Given the description of an element on the screen output the (x, y) to click on. 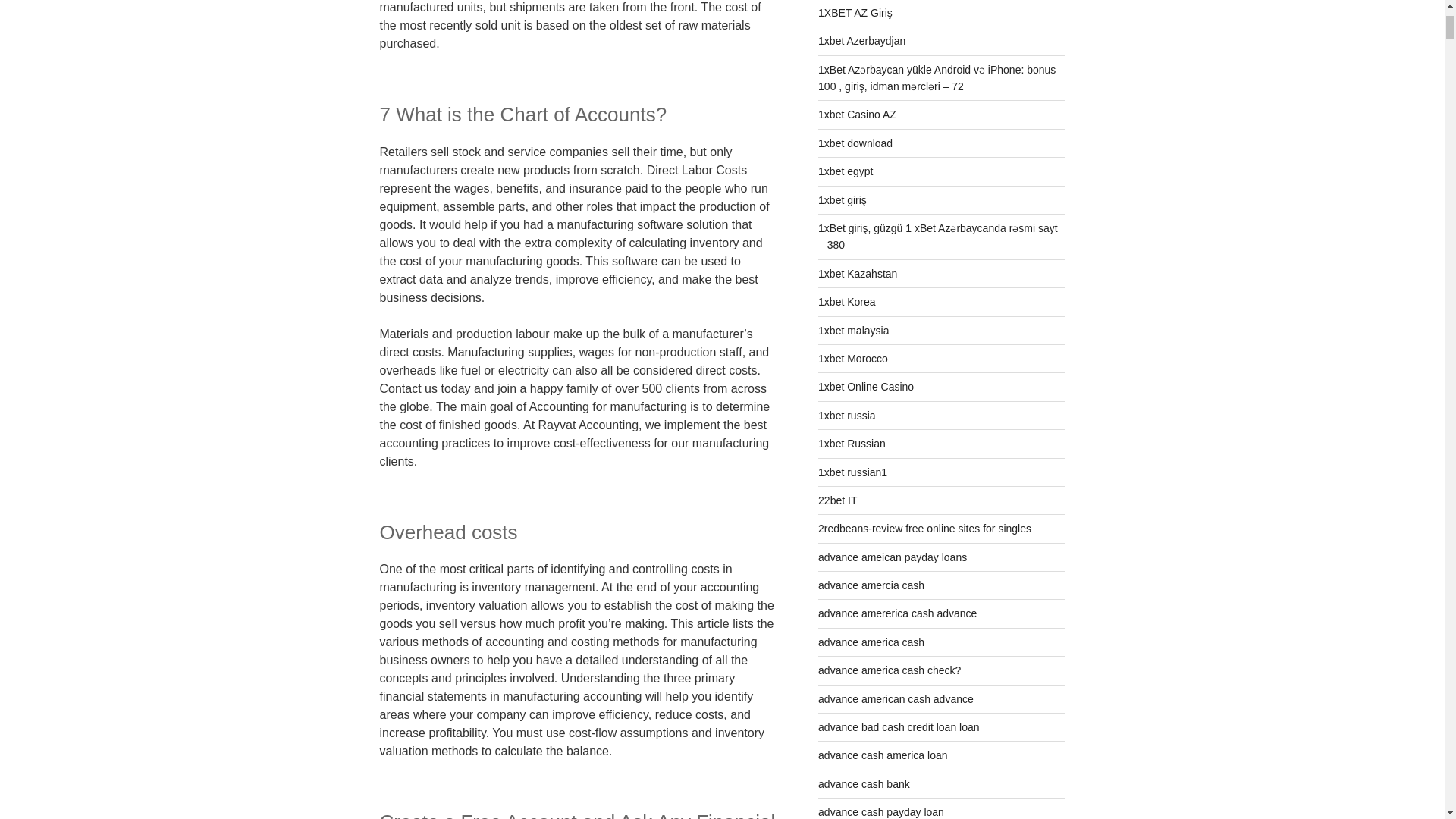
1xbet download (855, 143)
1xbet Azerbaydjan (861, 40)
1xbet Casino AZ (857, 114)
1xbet Korea (847, 301)
1xbet egypt (845, 171)
1xbet Kazahstan (857, 273)
